Given the description of an element on the screen output the (x, y) to click on. 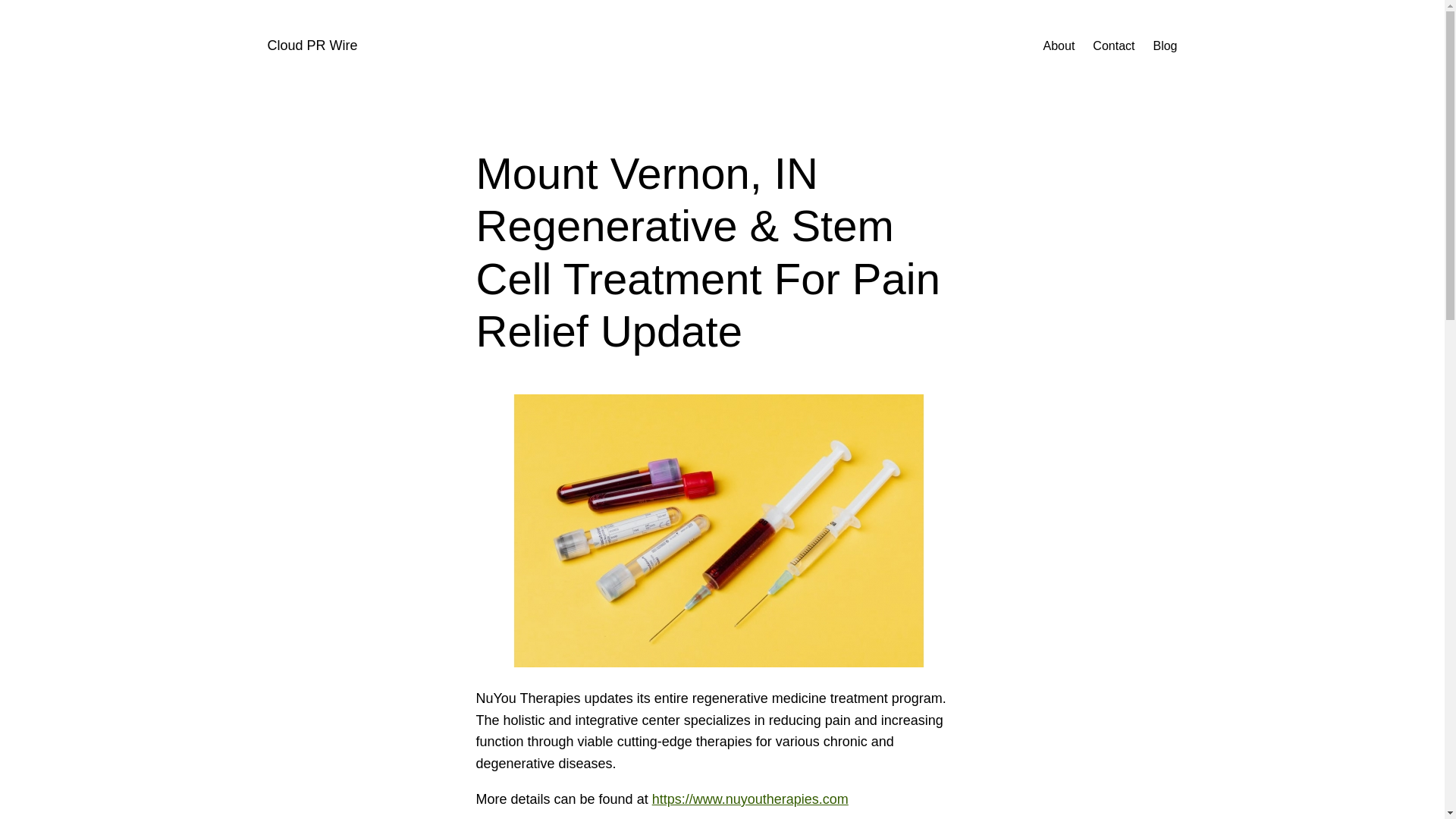
Blog (1164, 46)
Cloud PR Wire (311, 45)
Contact (1113, 46)
About (1059, 46)
